Given the description of an element on the screen output the (x, y) to click on. 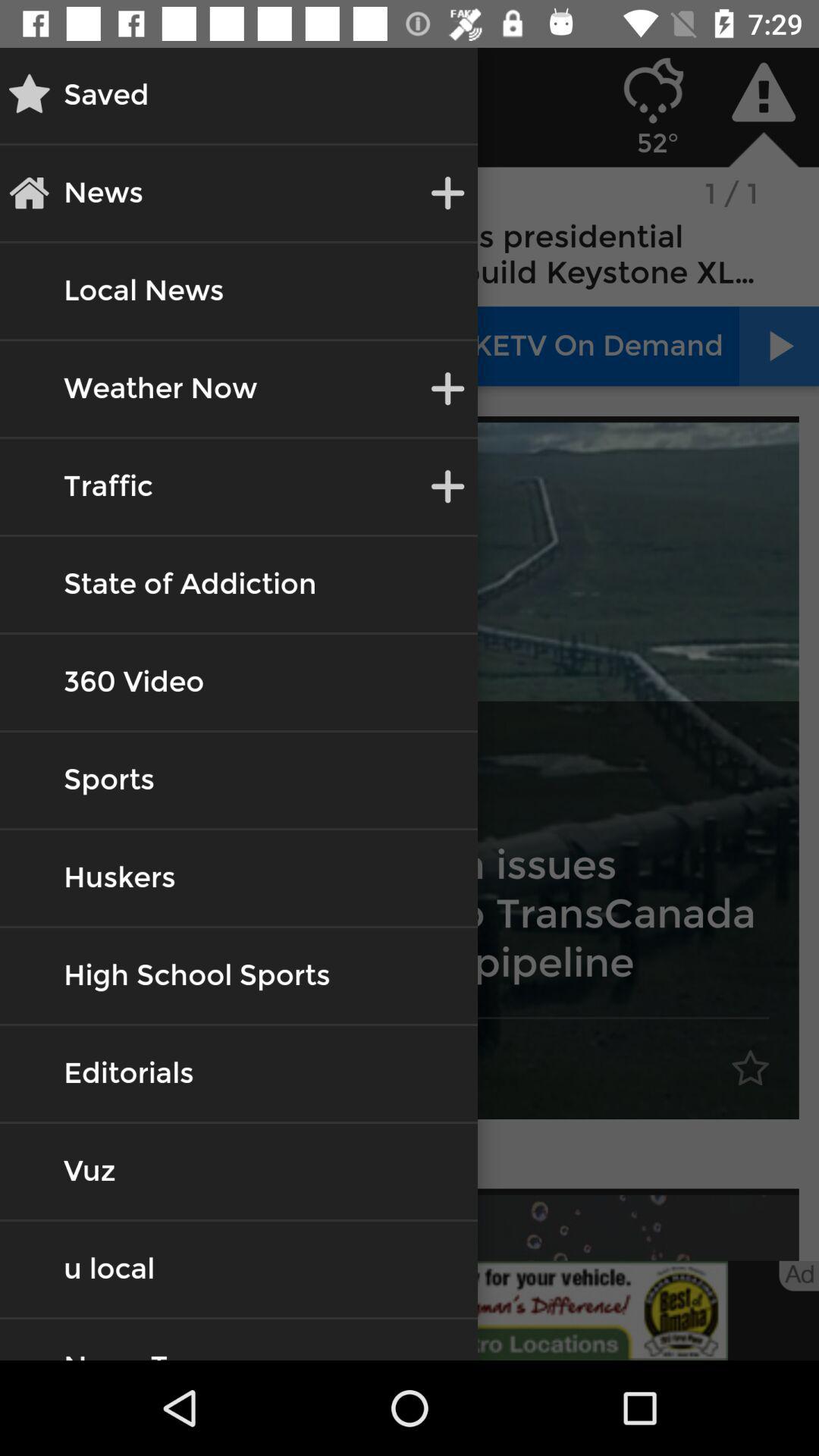
select the text ad (799, 1275)
go to text called weather now (160, 388)
alert icon at top right (763, 92)
select the plus button of weather now (447, 388)
